Given the description of an element on the screen output the (x, y) to click on. 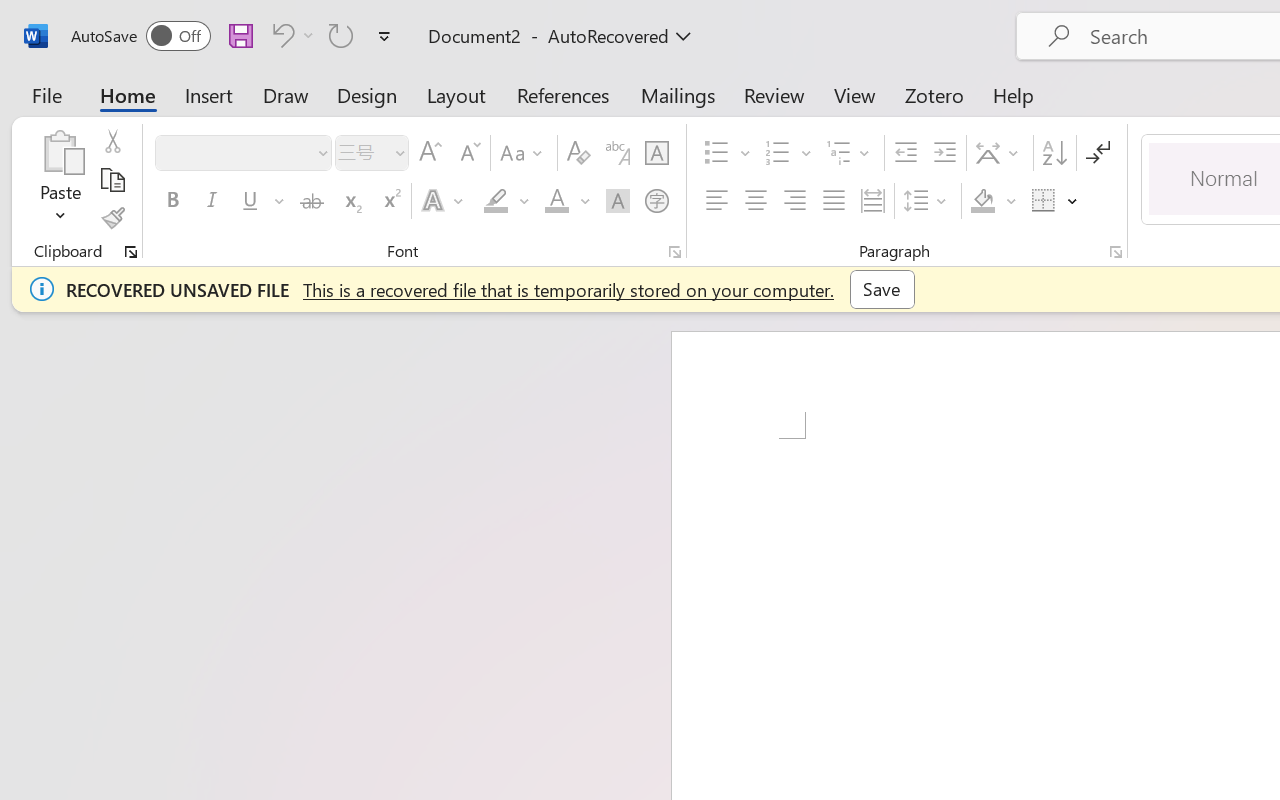
Bold (172, 201)
Text Highlight Color (506, 201)
Decrease Indent (906, 153)
Text Effects and Typography (444, 201)
Multilevel List (850, 153)
